Given the description of an element on the screen output the (x, y) to click on. 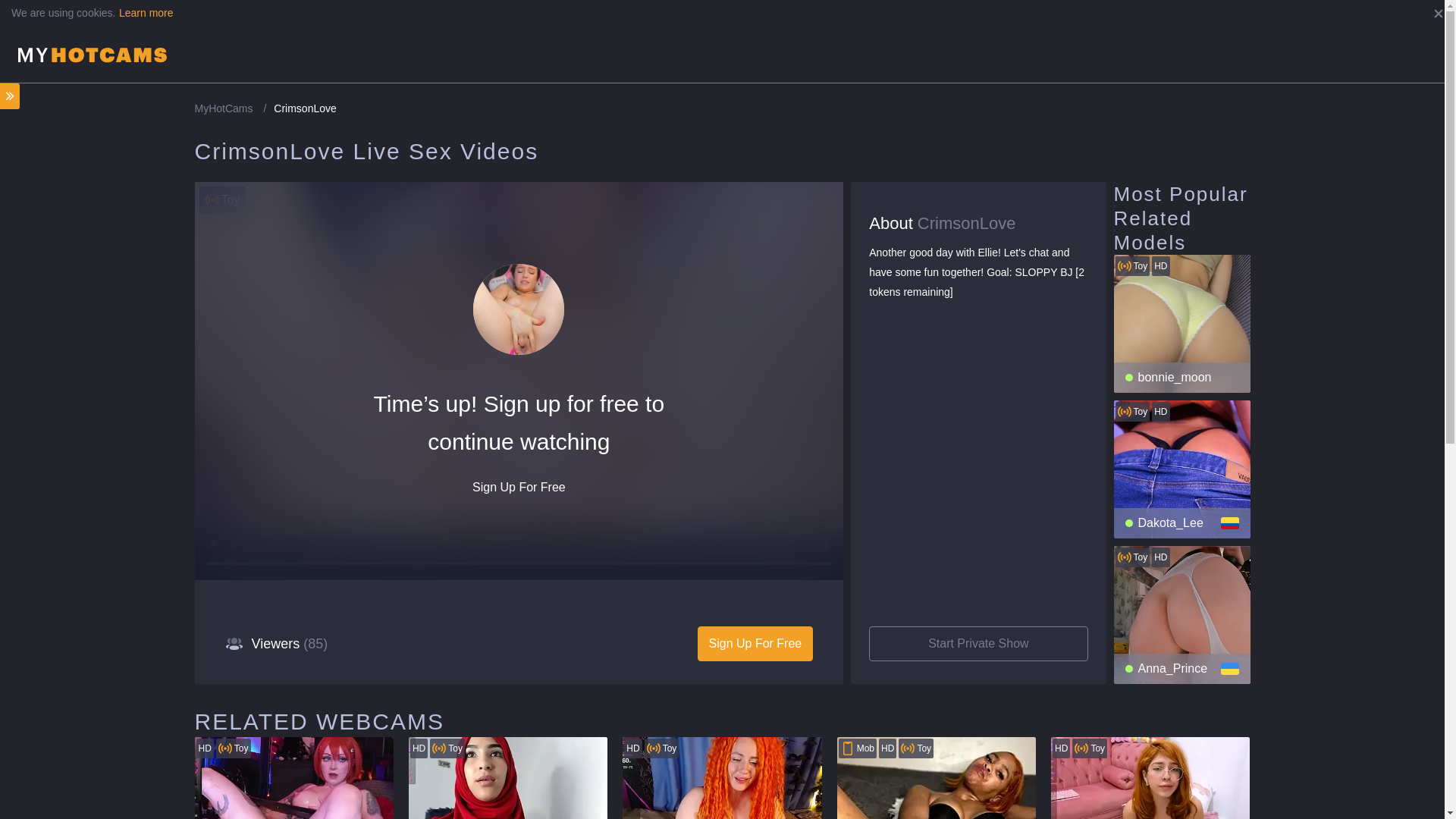
Learn more (146, 12)
